Given the description of an element on the screen output the (x, y) to click on. 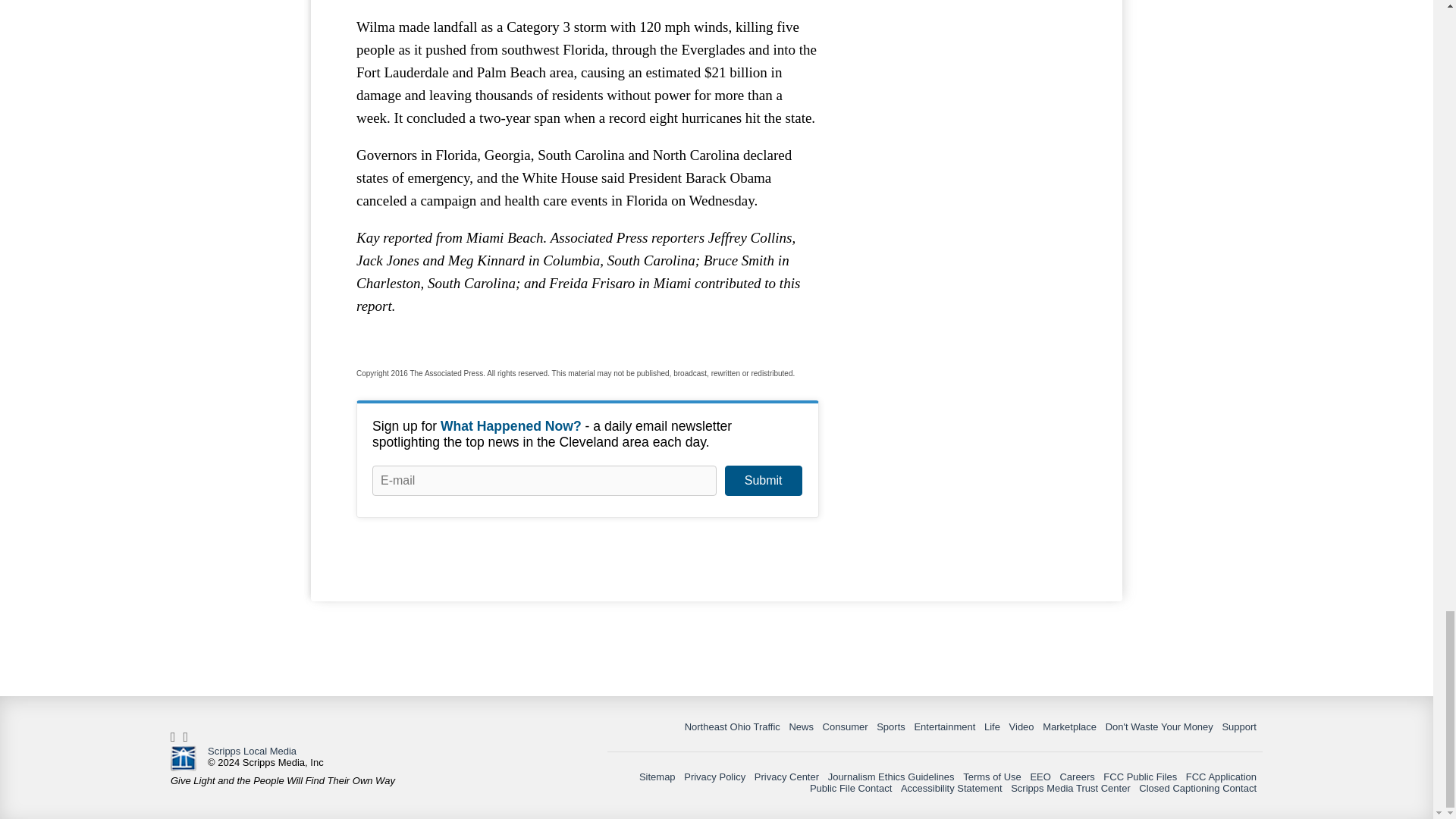
Submit (763, 481)
